Given the description of an element on the screen output the (x, y) to click on. 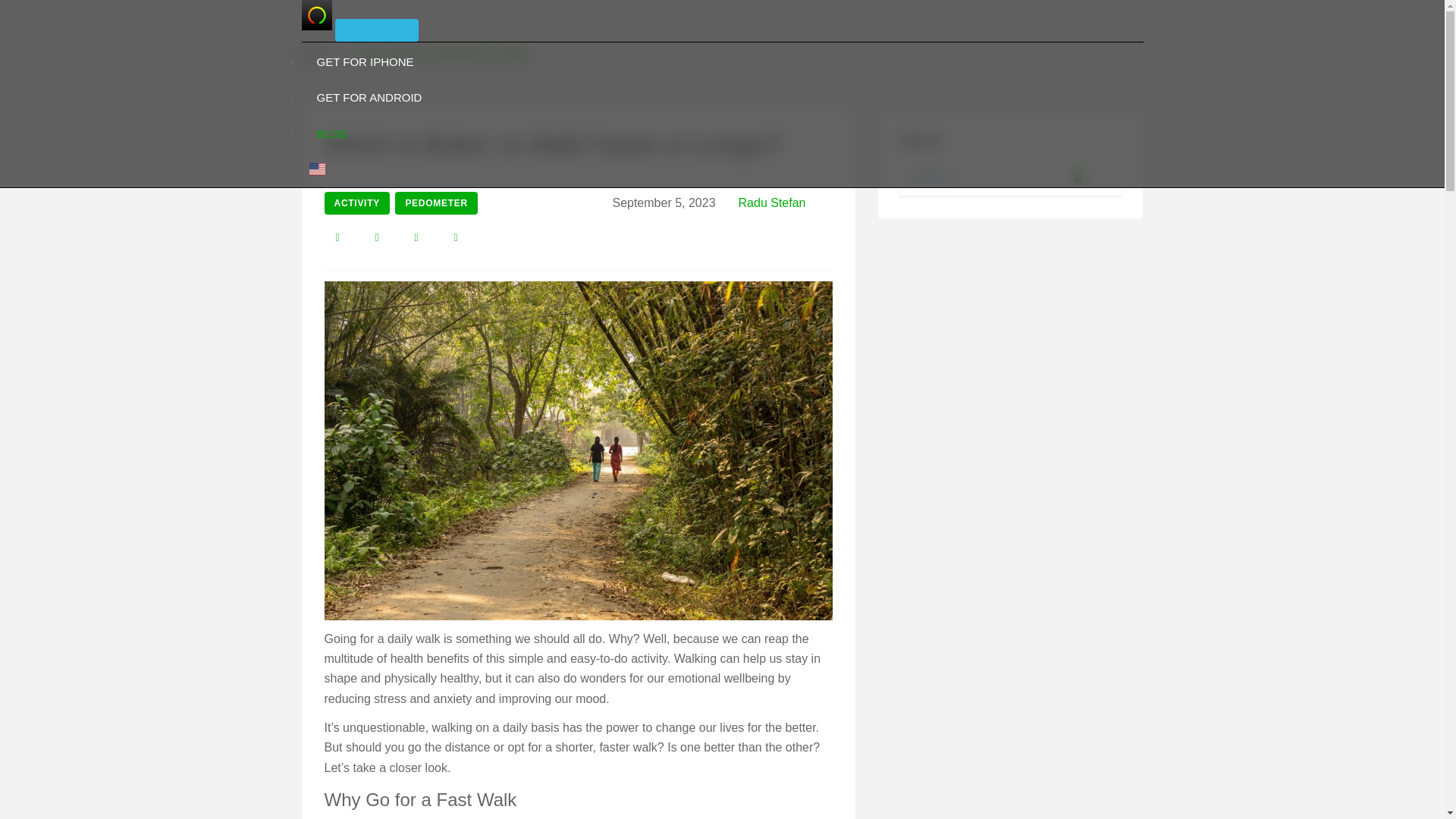
Home (313, 53)
Search for: (1010, 176)
Share on Linkedin (455, 237)
ACTIVITY (357, 202)
Home (313, 53)
PEDOMETER (435, 202)
BLOG (332, 133)
September 5, 2023 (662, 202)
Linkedin (455, 237)
GET FOR ANDROID (368, 97)
GET FOR IPHONE (365, 61)
Share on Facebook (337, 237)
Facebook (337, 237)
Share on Twitter (377, 237)
Twitter (377, 237)
